Given the description of an element on the screen output the (x, y) to click on. 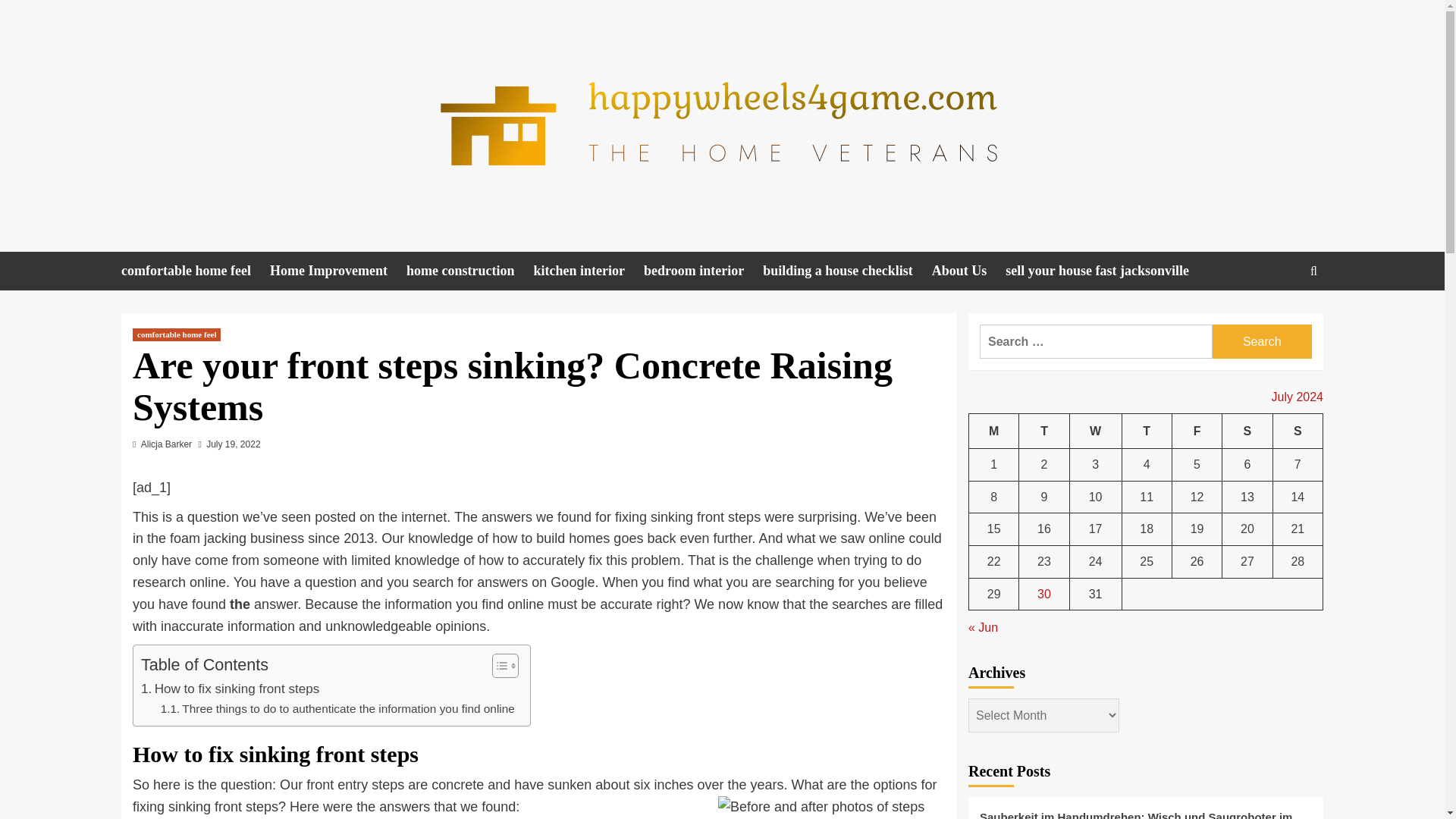
bedroom interior (702, 270)
Thursday (1146, 430)
Monday (994, 430)
Alicja Barker (166, 443)
Friday (1196, 430)
comfortable home feel (176, 334)
building a house checklist (846, 270)
Home Improvement (337, 270)
comfortable home feel (194, 270)
July 19, 2022 (233, 443)
kitchen interior (588, 270)
How to fix sinking front steps (229, 688)
Saturday (1247, 430)
